Given the description of an element on the screen output the (x, y) to click on. 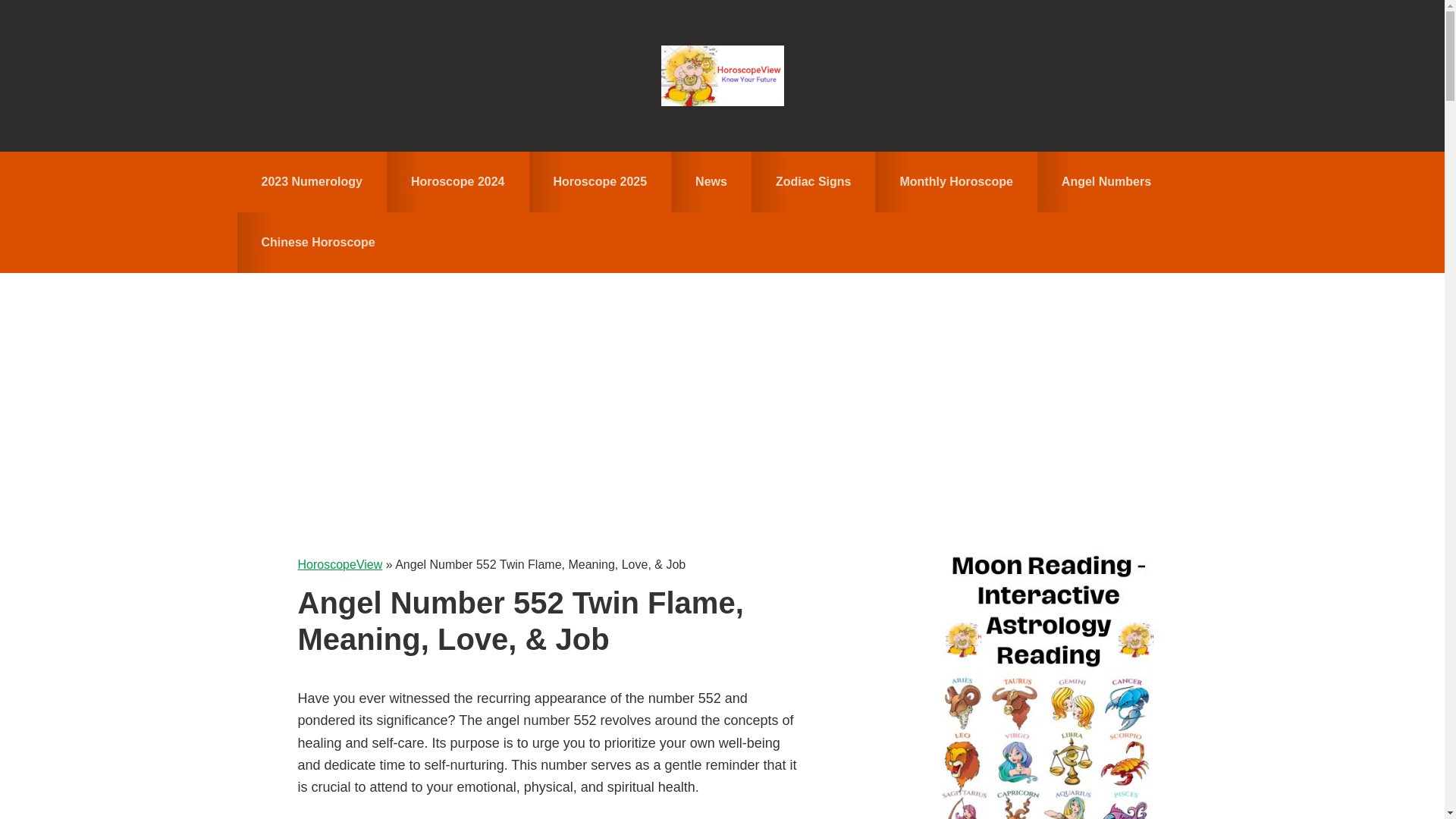
Angel Numbers (1105, 181)
Zodiac Signs (813, 181)
2023 Numerology (310, 181)
Chinese Horoscope (316, 242)
Monthly Horoscope (955, 181)
Horoscope 2025 (600, 181)
News (711, 181)
Horoscope 2024 (458, 181)
HoroscopeView (722, 75)
HoroscopeView (339, 563)
